Given the description of an element on the screen output the (x, y) to click on. 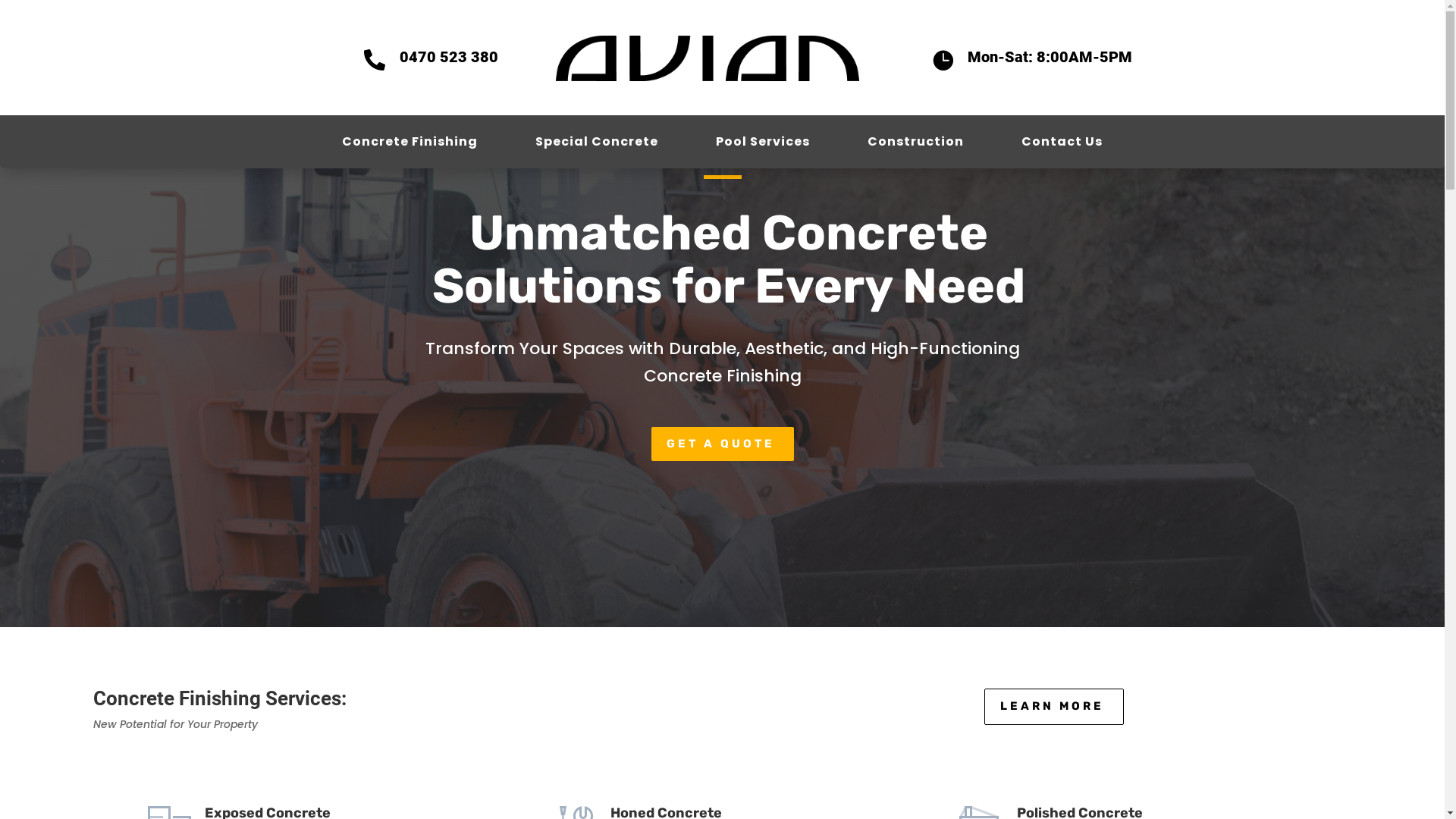
Special Concrete Element type: text (596, 144)
Concrete Finishing Element type: text (409, 144)
GET A QUOTE Element type: text (721, 443)
unnamed (3) Element type: hover (706, 58)
LEARN MORE Element type: text (1053, 706)
Pool Services Element type: text (762, 144)
Construction Element type: text (915, 144)
Contact Us Element type: text (1061, 144)
